Given the description of an element on the screen output the (x, y) to click on. 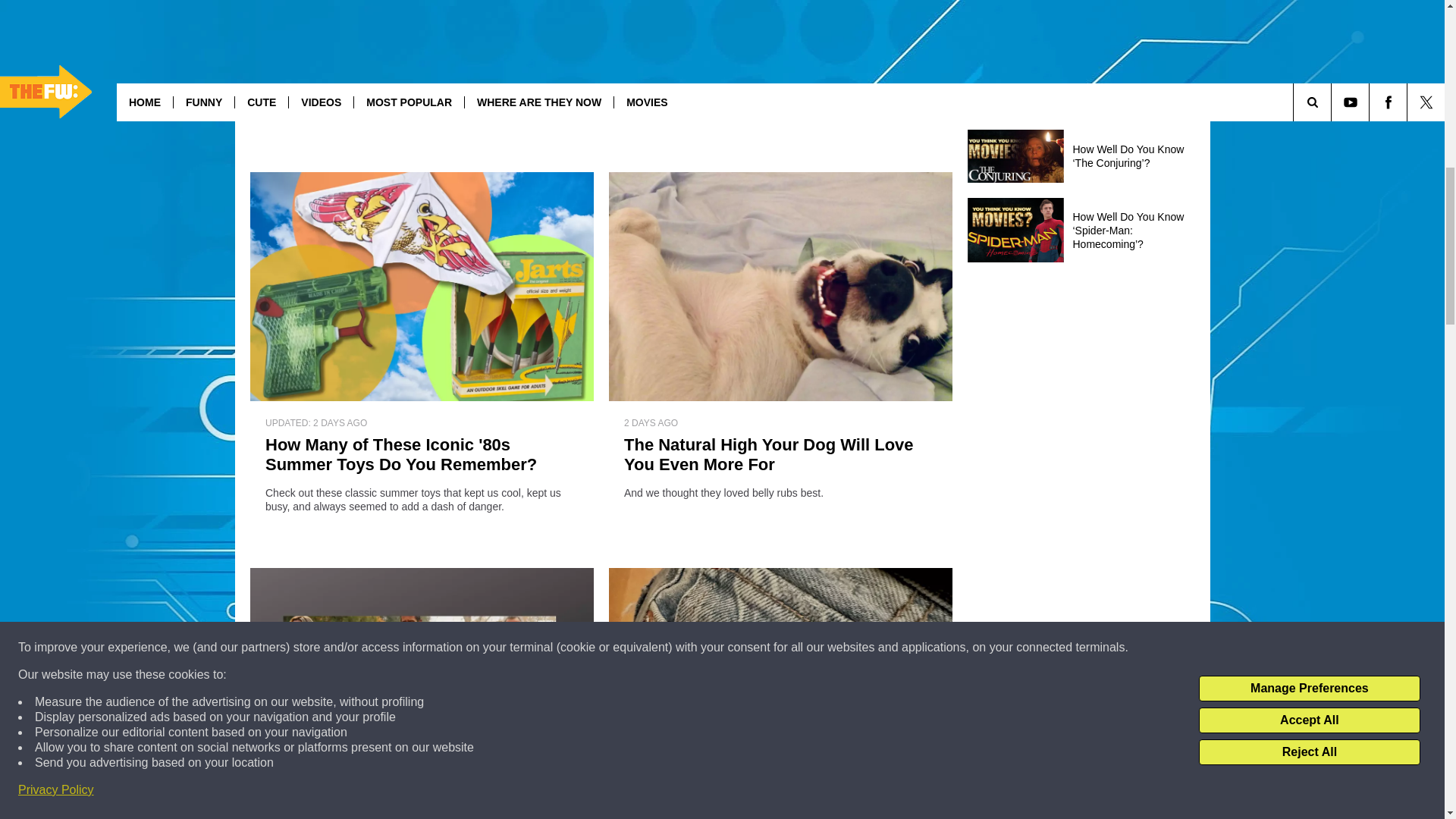
Ohio Supreme Court: Expect Bones in Boneless Chicken Wings (779, 58)
JD Vance Really Called Beloved Jennifer Aniston 'Disgusting' (421, 58)
How Many of These Iconic '80s Summer Toys Do You Remember? (421, 454)
